Given the description of an element on the screen output the (x, y) to click on. 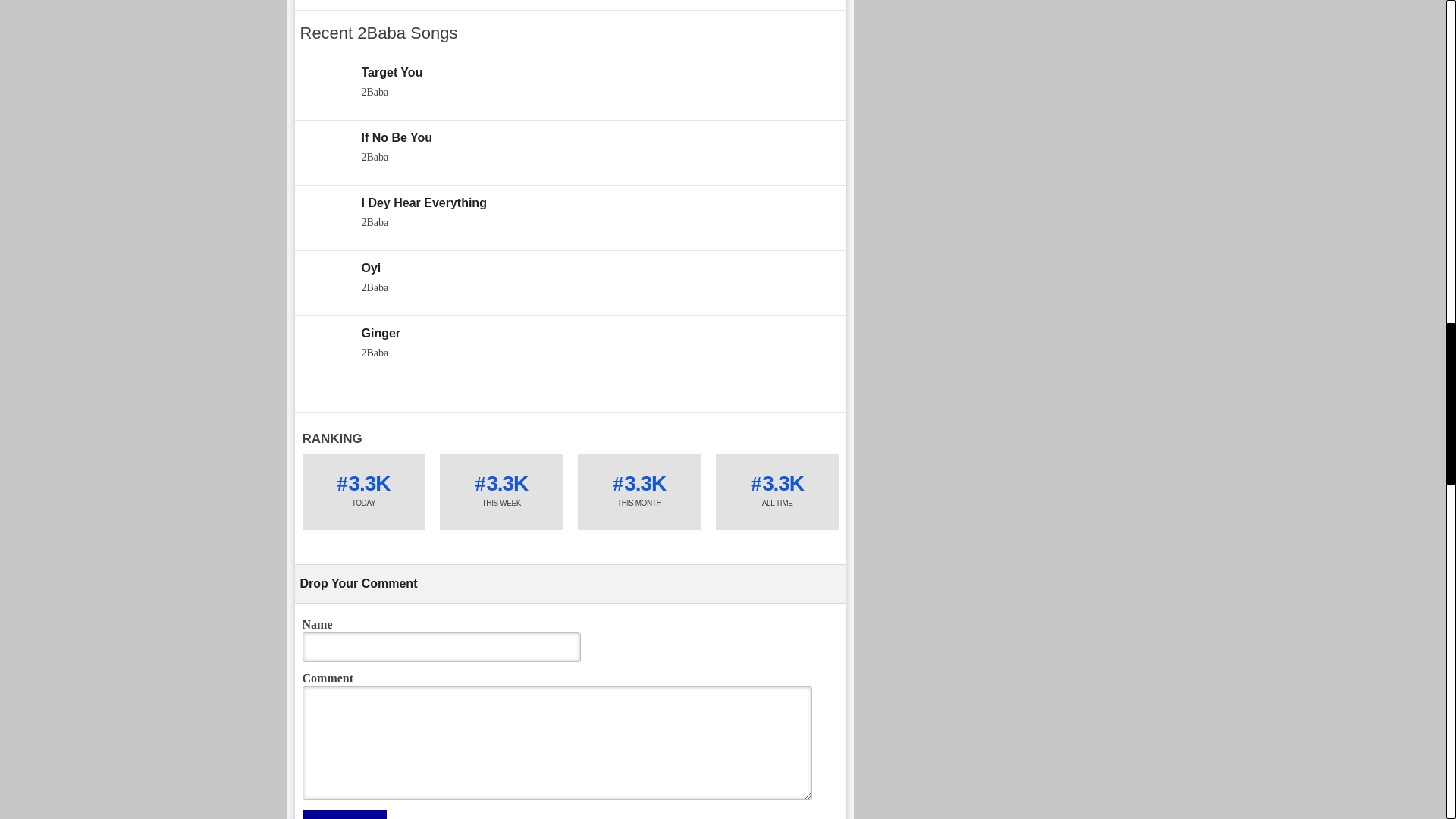
Post Comment (343, 814)
